Given the description of an element on the screen output the (x, y) to click on. 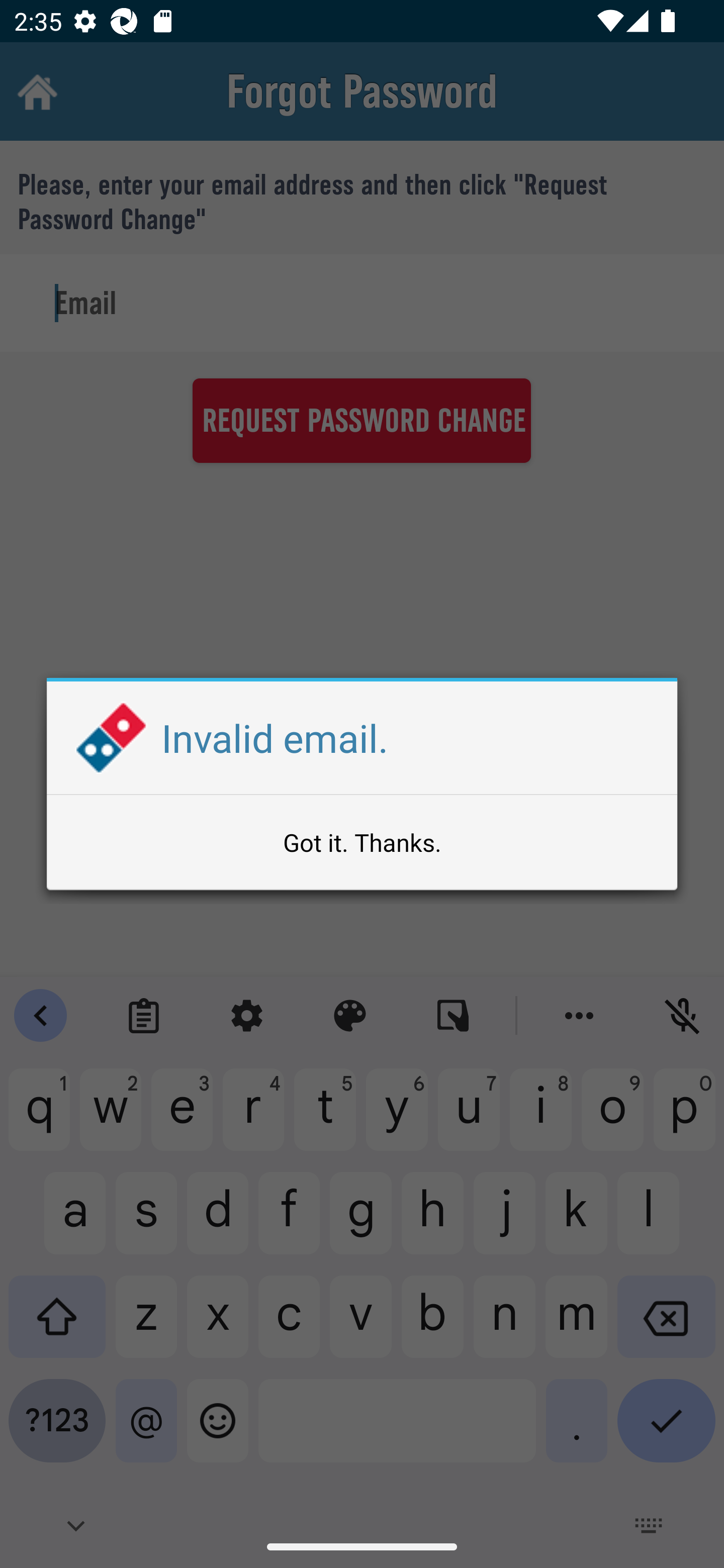
Got it. Thanks. (361, 842)
